Given the description of an element on the screen output the (x, y) to click on. 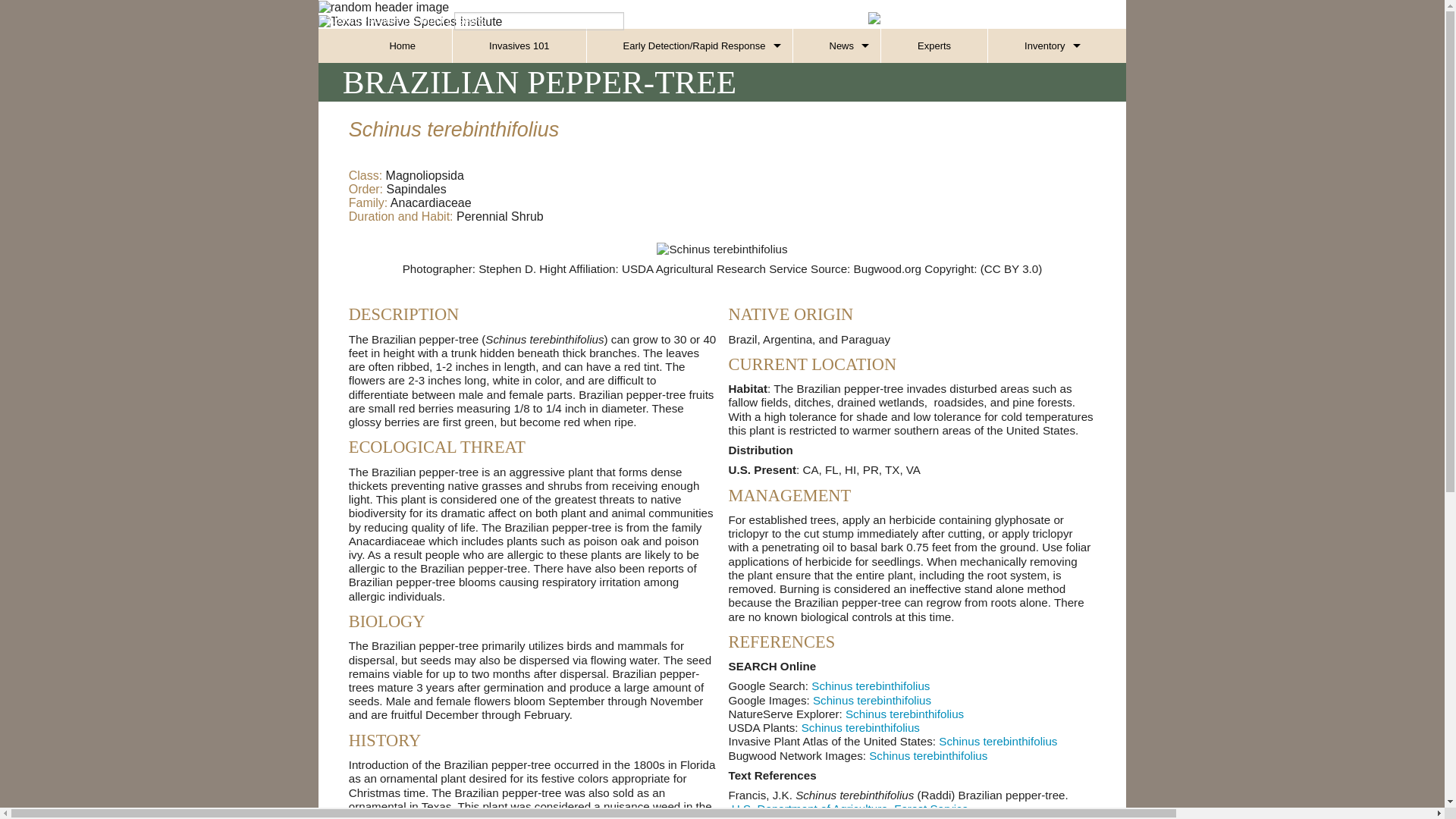
Honeybees (689, 114)
Home (401, 45)
Search (539, 21)
Current EDRR (689, 80)
Events (836, 114)
Success Stories (836, 148)
Schinus terebinthifolius (928, 755)
Invasives 101 (519, 45)
Schinus terebinthifolius (904, 713)
Schinus terebinthifolius (861, 727)
Experts (933, 45)
U.S. Department of Agriculture, Forest Service (850, 808)
Schinus terebinthifolius (870, 685)
Alerts (836, 80)
Plants (1039, 148)
